Given the description of an element on the screen output the (x, y) to click on. 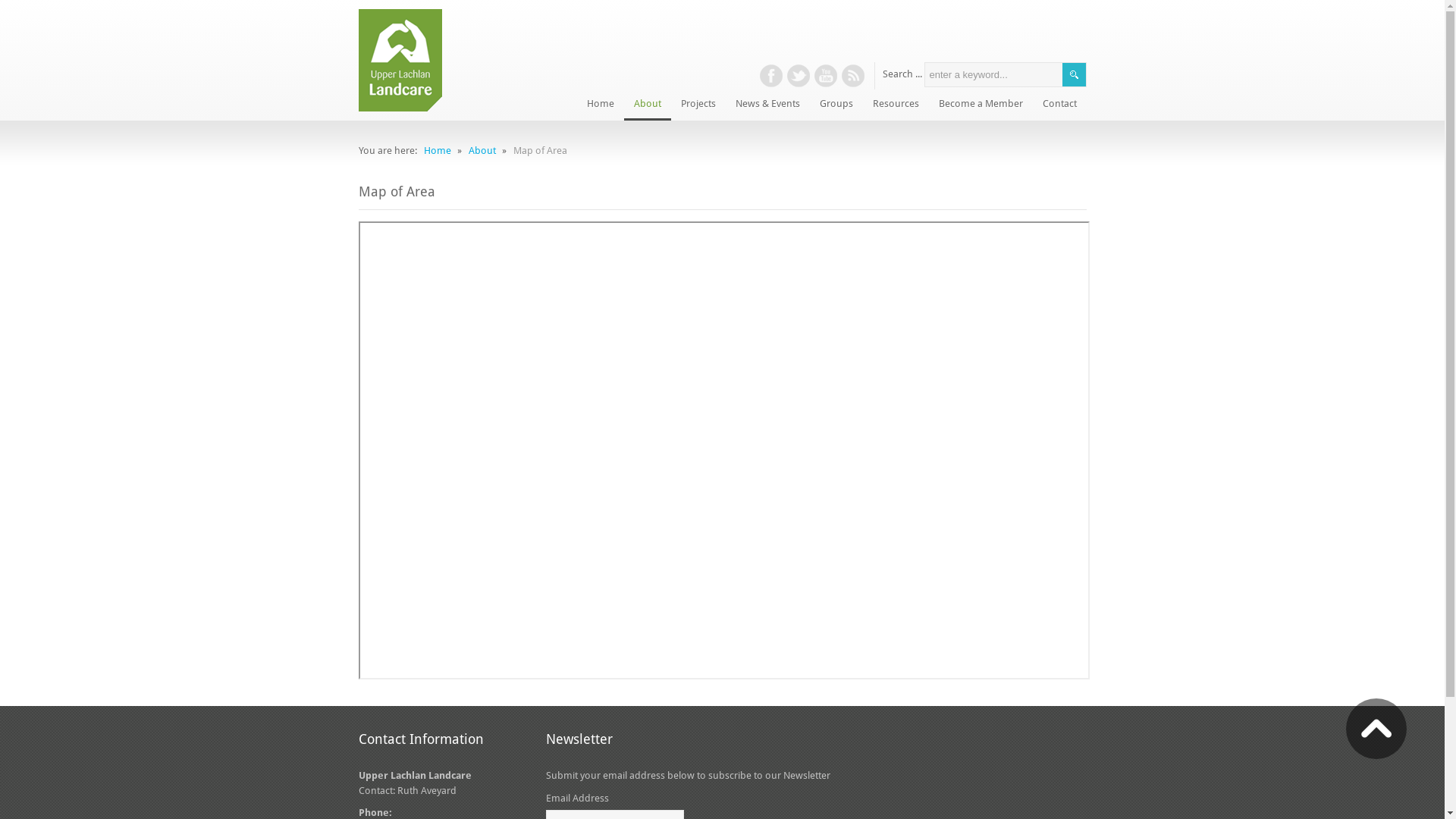
Home Element type: text (436, 150)
Contact Element type: text (1059, 104)
  Element type: text (852, 75)
Groups Element type: text (835, 104)
News & Events Element type: text (766, 104)
Projects Element type: text (697, 104)
  Element type: text (770, 75)
About Element type: text (481, 150)
About Element type: text (646, 104)
  Element type: text (797, 75)
  Element type: text (824, 75)
Home Element type: text (599, 104)
Become a Member Element type: text (980, 104)
  Element type: text (1376, 735)
Resources Element type: text (895, 104)
